Given the description of an element on the screen output the (x, y) to click on. 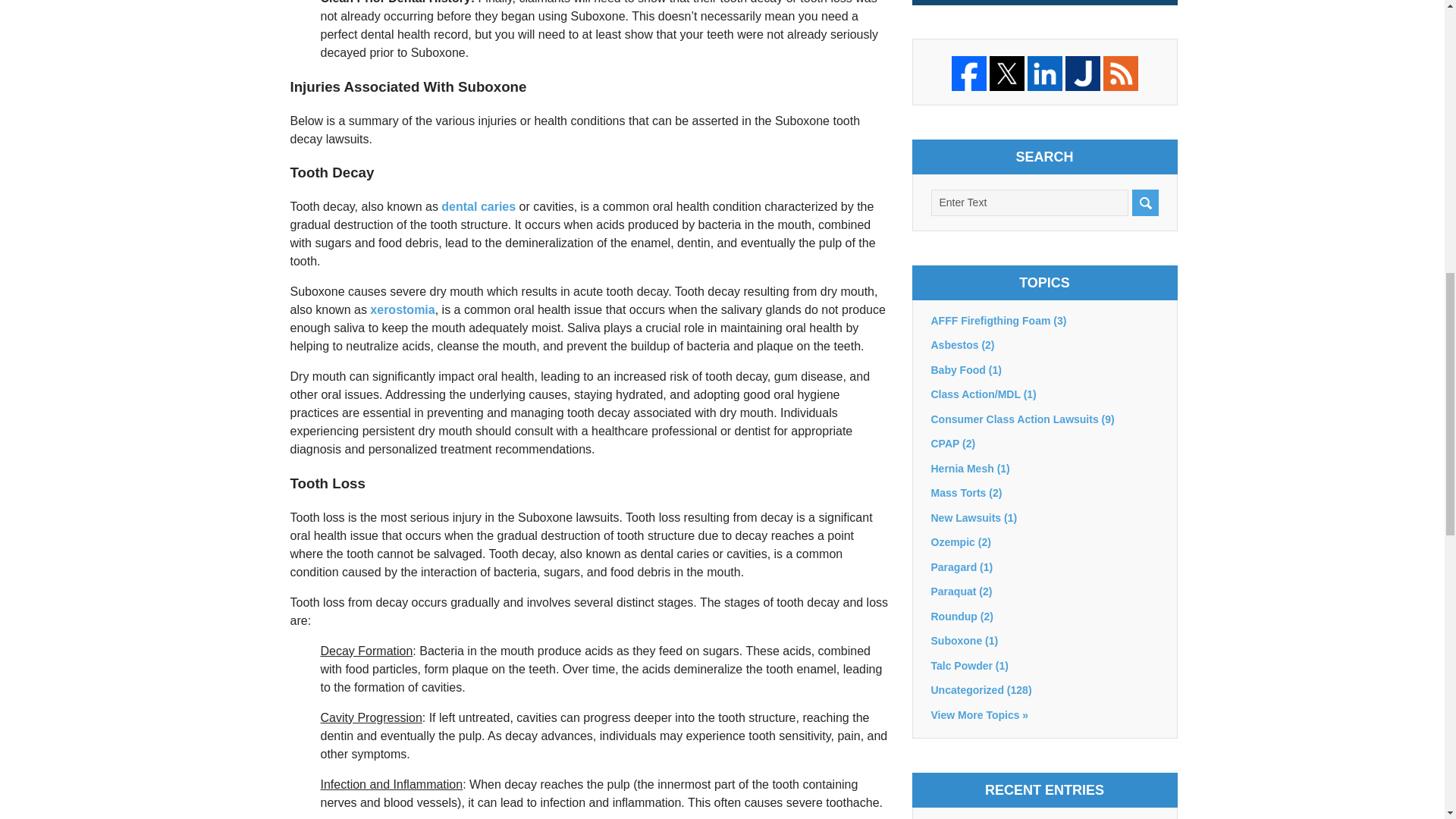
dental caries (478, 205)
Twitter (1006, 73)
Feed (1119, 73)
Justia (1081, 73)
xerostomia (401, 309)
SEARCH (1144, 202)
LinkedIn (1043, 73)
Facebook (968, 73)
